Given the description of an element on the screen output the (x, y) to click on. 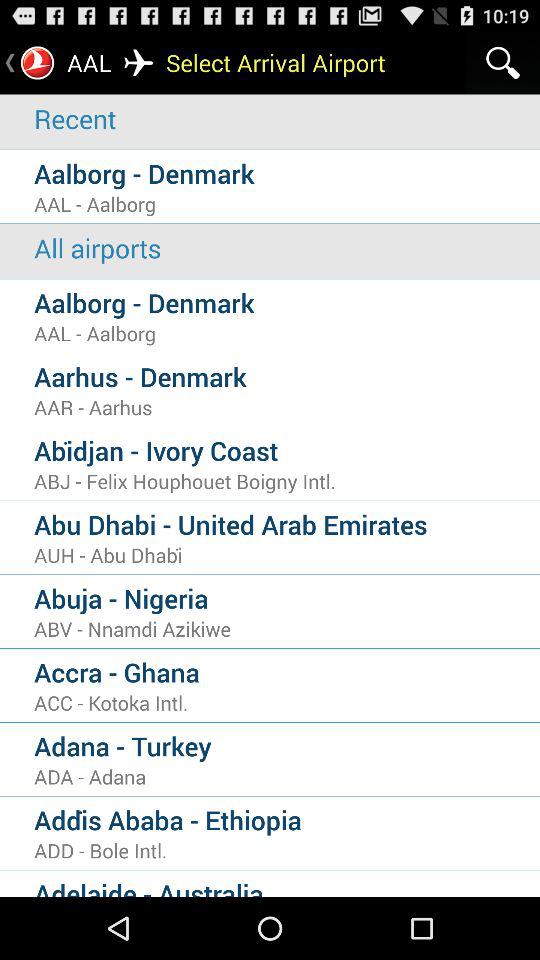
jump to the abi djan ivory (287, 450)
